Given the description of an element on the screen output the (x, y) to click on. 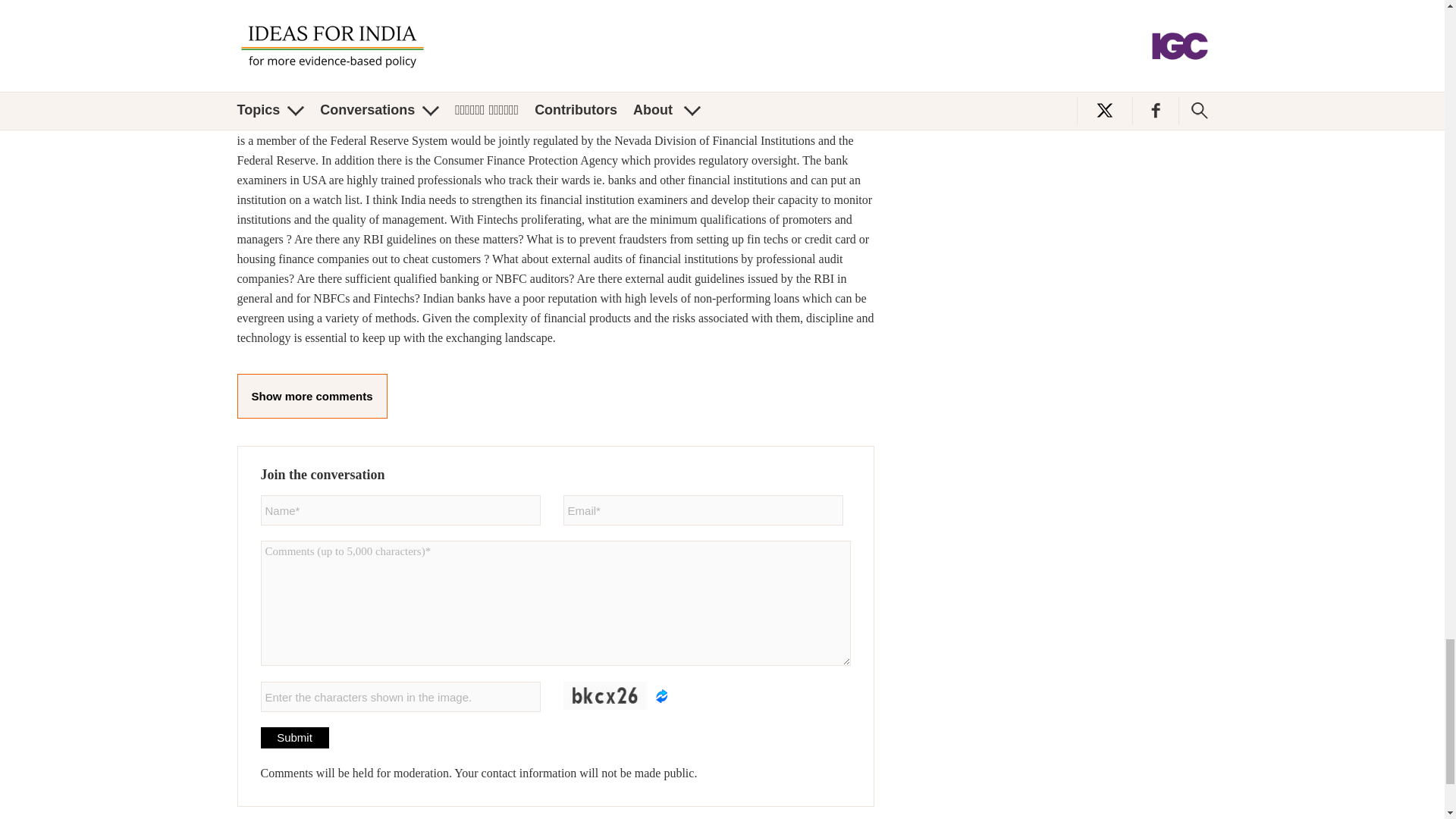
Submit (294, 737)
Captcha Reload (661, 695)
Verification code (400, 696)
